Given the description of an element on the screen output the (x, y) to click on. 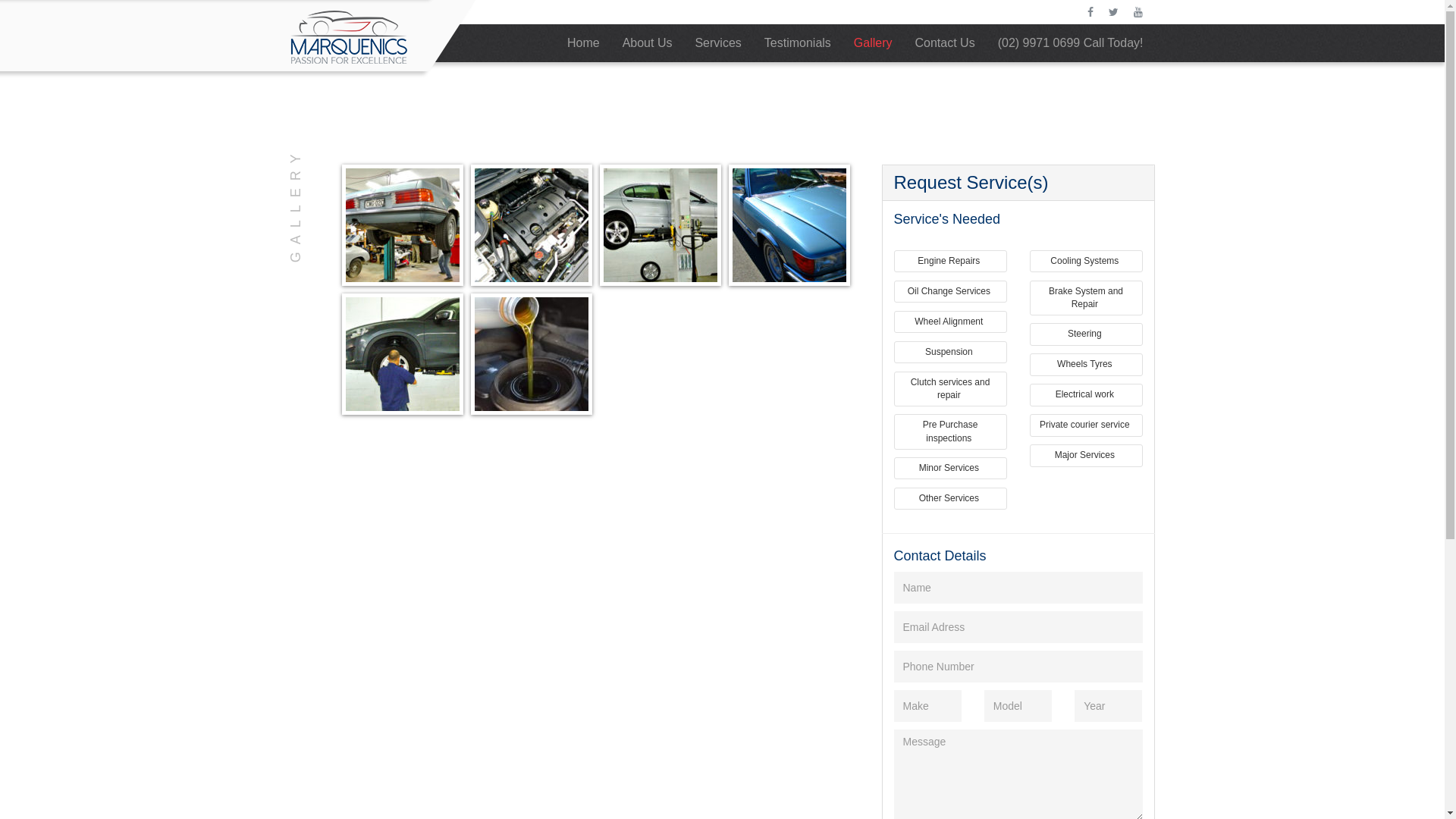
(02) 9971 0699 Call Today! Element type: text (1070, 43)
About Us Element type: text (647, 43)
Services Element type: text (717, 43)
Home Element type: text (583, 43)
Contact Us Element type: text (944, 43)
Testimonials Element type: text (797, 43)
Gallery Element type: text (872, 43)
